Given the description of an element on the screen output the (x, y) to click on. 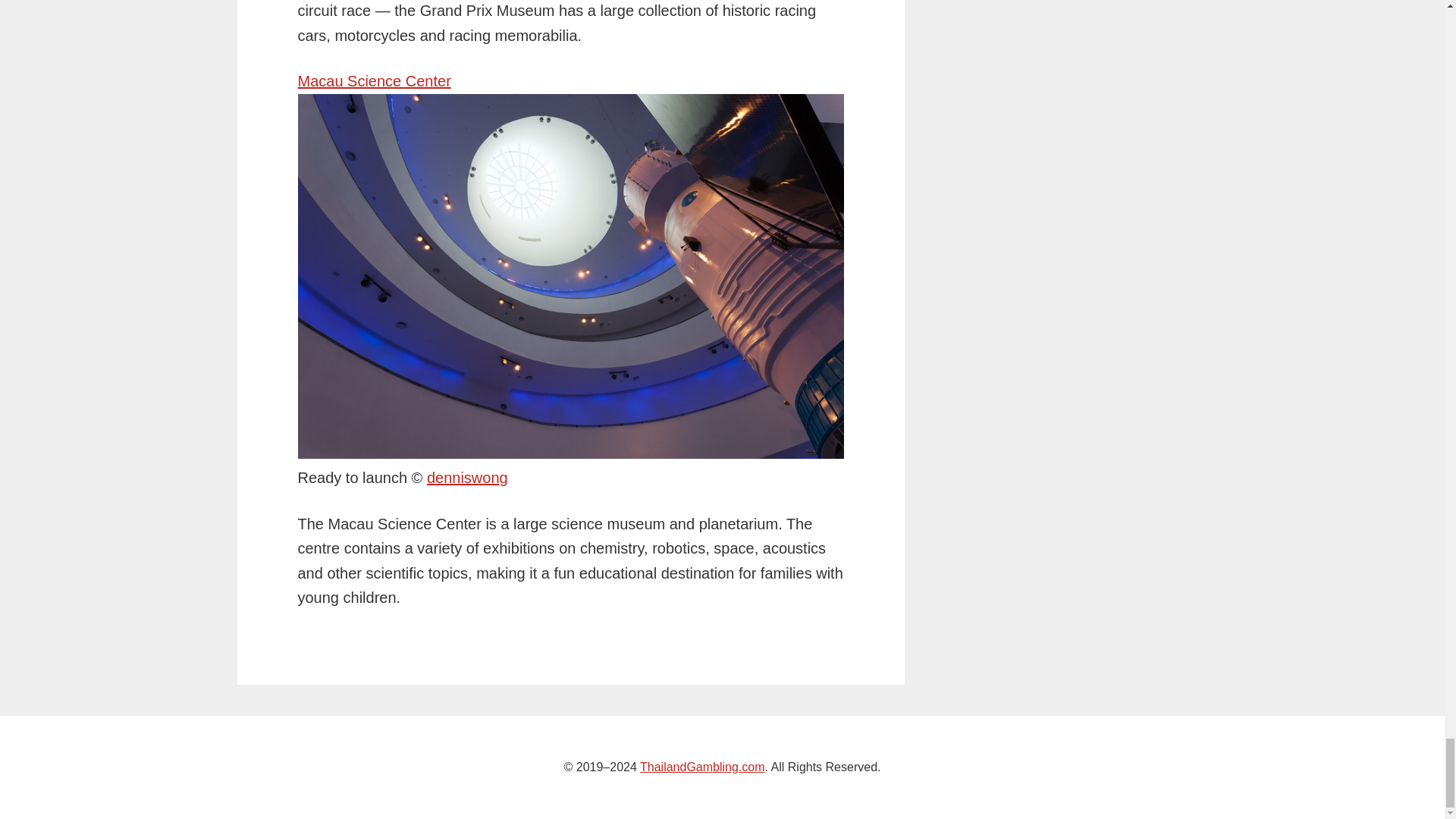
Macau Science Center (373, 80)
denniswong (467, 477)
